Given the description of an element on the screen output the (x, y) to click on. 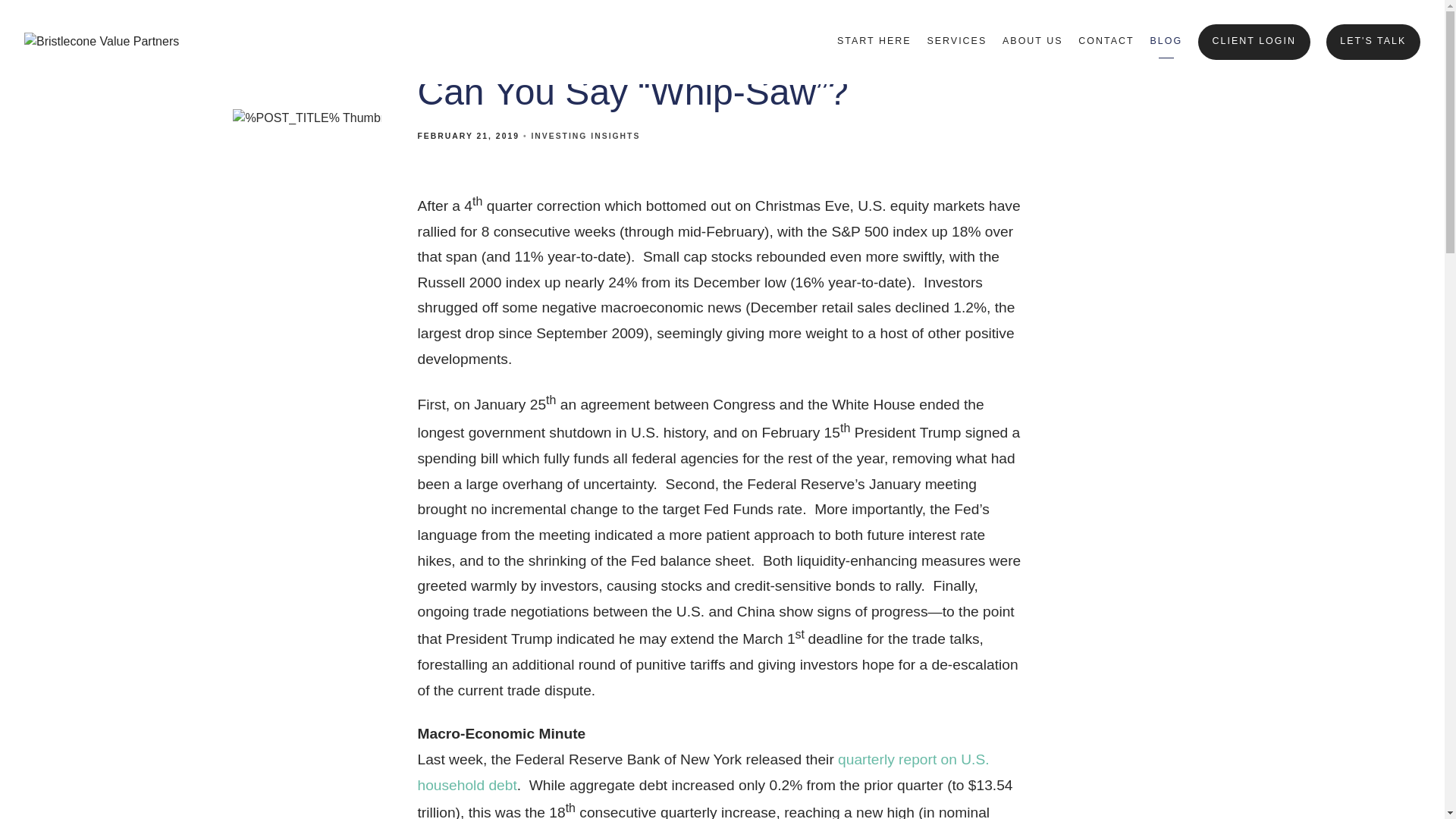
CONTACT (1106, 41)
ABOUT US (1032, 41)
CLIENT LOGIN (1254, 41)
quarterly report on U.S. household debt (702, 772)
START HERE (874, 41)
LET'S TALK (1372, 41)
INVESTING INSIGHTS (585, 135)
SERVICES (956, 41)
BLOG (1166, 41)
